Given the description of an element on the screen output the (x, y) to click on. 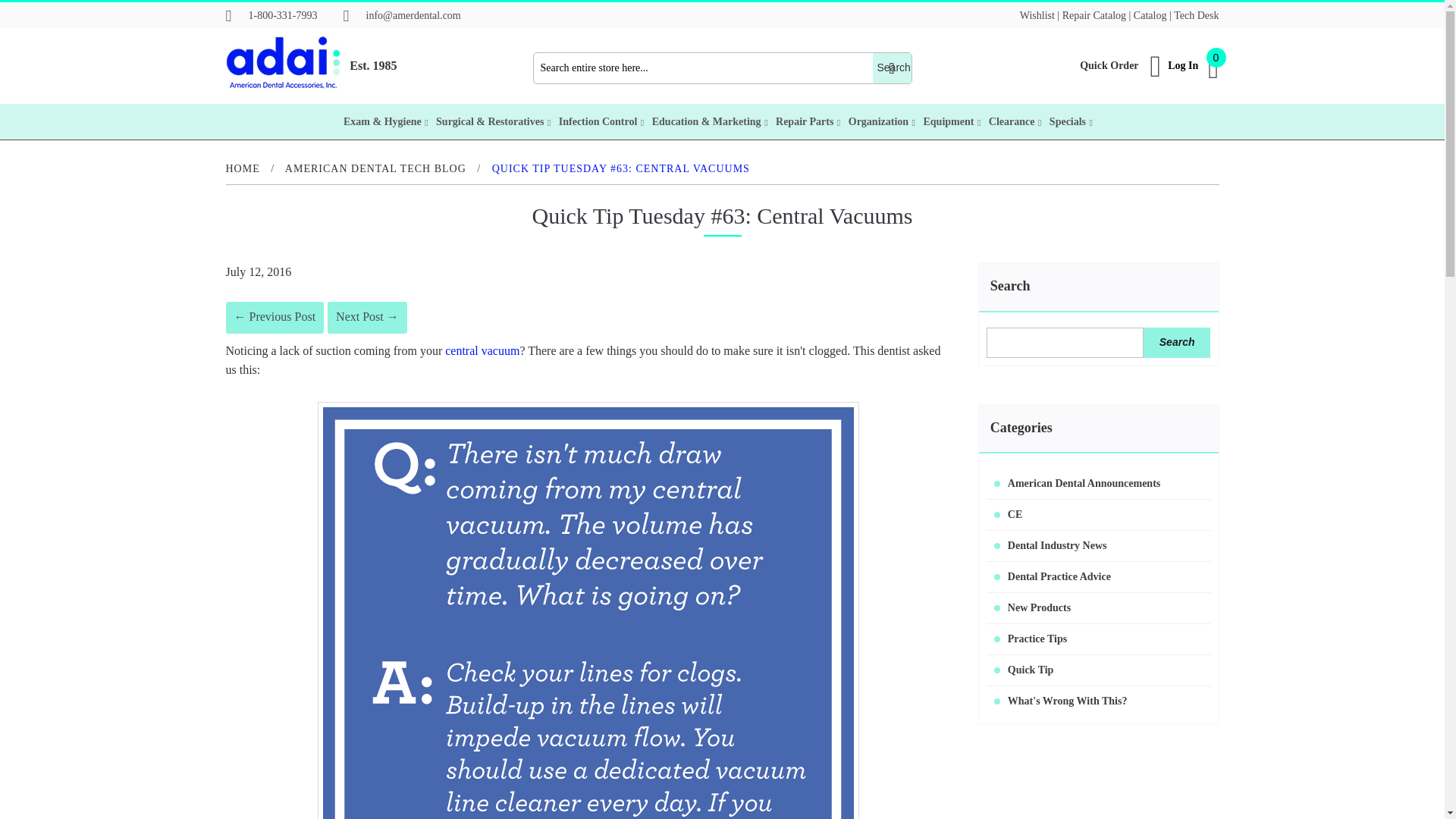
Organization (881, 121)
Tech Desk (1195, 14)
Specials (1071, 121)
Clearance (1015, 121)
Repair Parts (808, 121)
Equipment (951, 121)
Search (1176, 342)
Infection Control (601, 121)
1-800-331-7993 (271, 16)
